Given the description of an element on the screen output the (x, y) to click on. 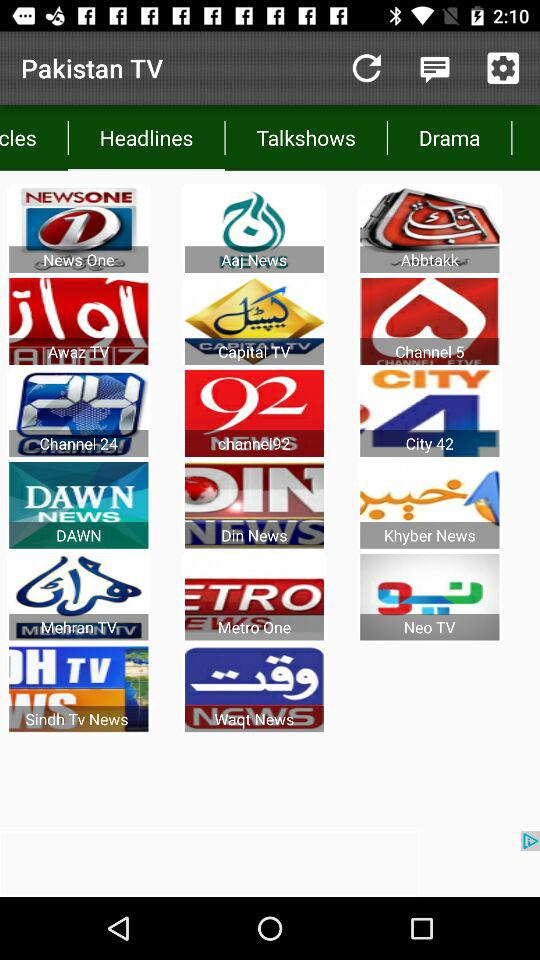
refresh page (366, 67)
